Given the description of an element on the screen output the (x, y) to click on. 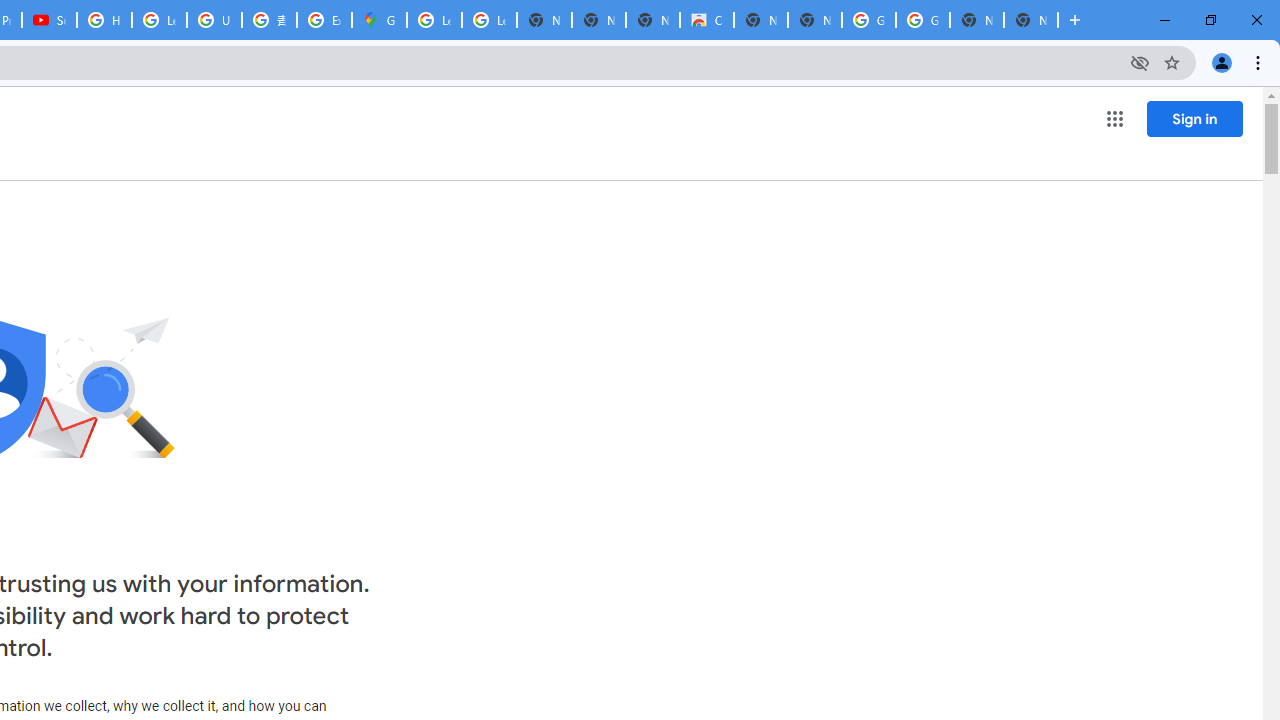
Subscriptions - YouTube (48, 20)
Google Maps (379, 20)
